Given the description of an element on the screen output the (x, y) to click on. 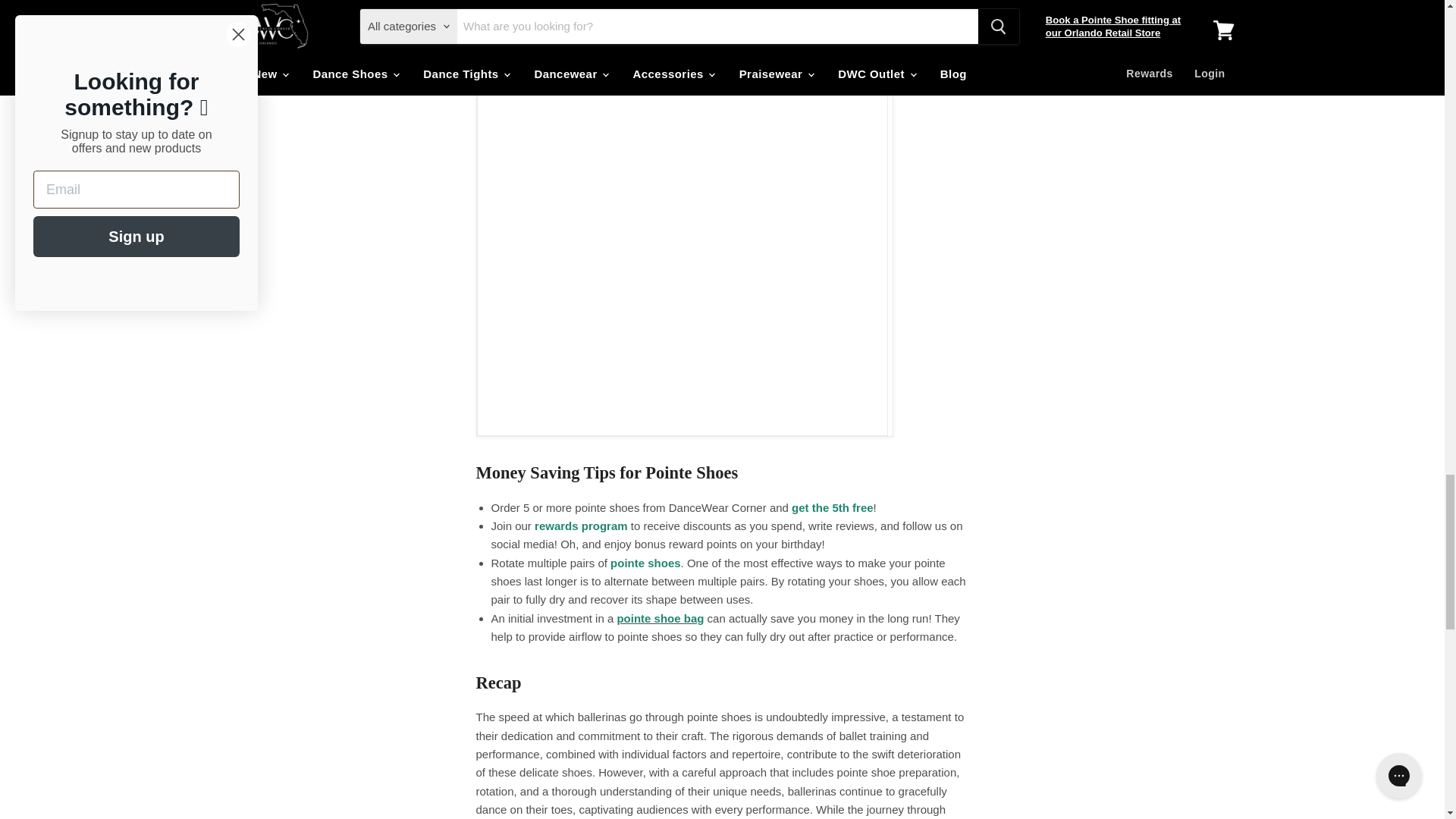
pointe shoe bag (659, 617)
DWC Rewards Program (580, 525)
pointe shoes (832, 507)
Pointe Shoes (645, 562)
